Given the description of an element on the screen output the (x, y) to click on. 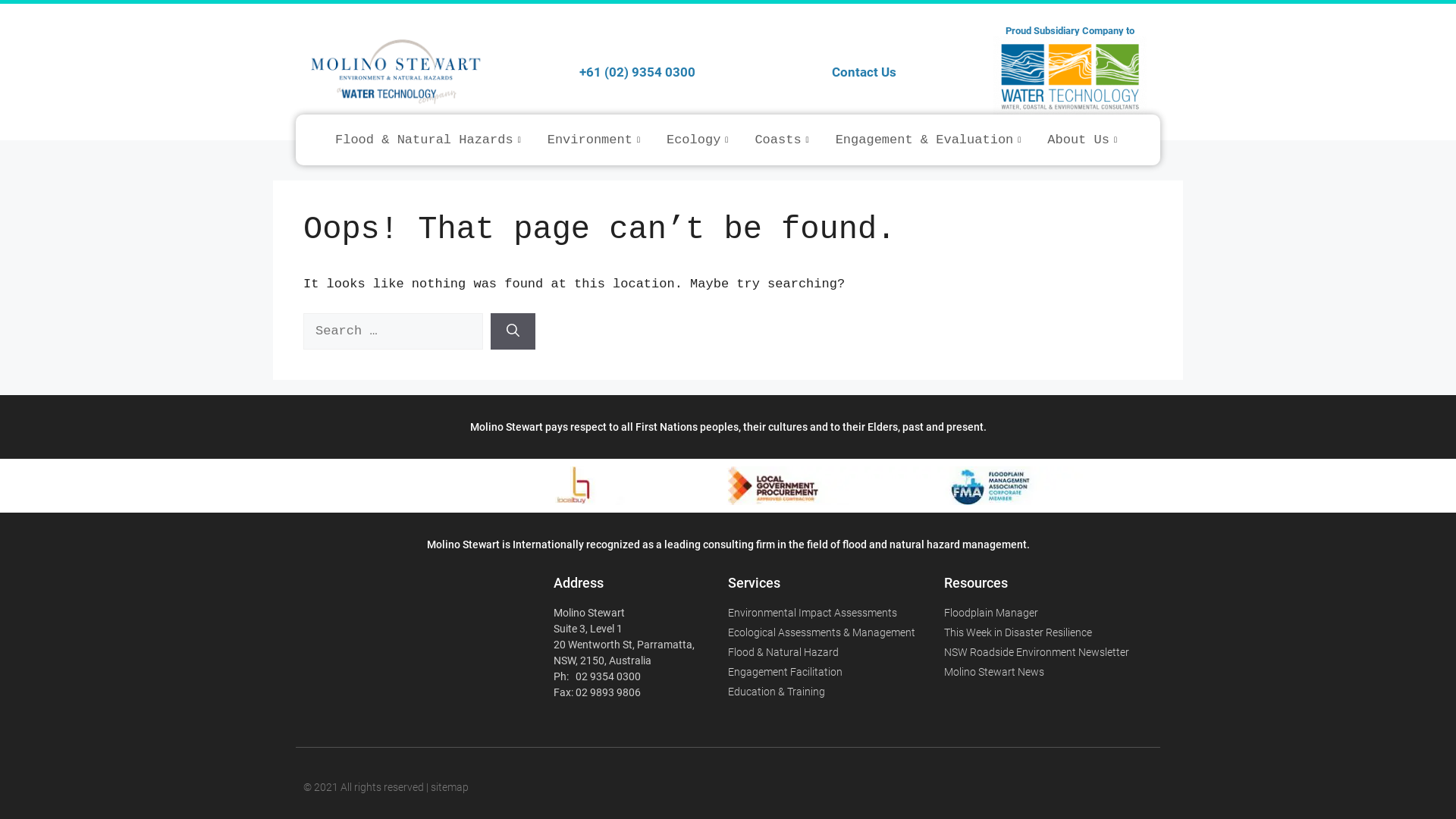
Coasts Element type: text (783, 139)
This Week in Disaster Resilience Element type: text (1052, 632)
Flood & Natural Hazard Element type: text (836, 652)
molino stewart Element type: hover (405, 637)
Ecology Element type: text (699, 139)
Contact Us Element type: text (863, 70)
NSW Roadside Environment Newsletter Element type: text (1052, 652)
Ecological Assessments & Management Element type: text (836, 632)
About Us Element type: text (1083, 139)
Flood & Natural Hazards Element type: text (429, 139)
+61 (02) 9354 0300 Element type: text (637, 70)
Search for: Element type: hover (393, 331)
Environmental Impact Assessments Element type: text (836, 613)
Education & Training Element type: text (836, 691)
Engagement & Evaluation Element type: text (930, 139)
Engagement Facilitation Element type: text (836, 672)
sitemap Element type: text (449, 787)
Floodplain Manager Element type: text (1052, 613)
Molino Stewart News Element type: text (1052, 672)
Environment Element type: text (595, 139)
